Given the description of an element on the screen output the (x, y) to click on. 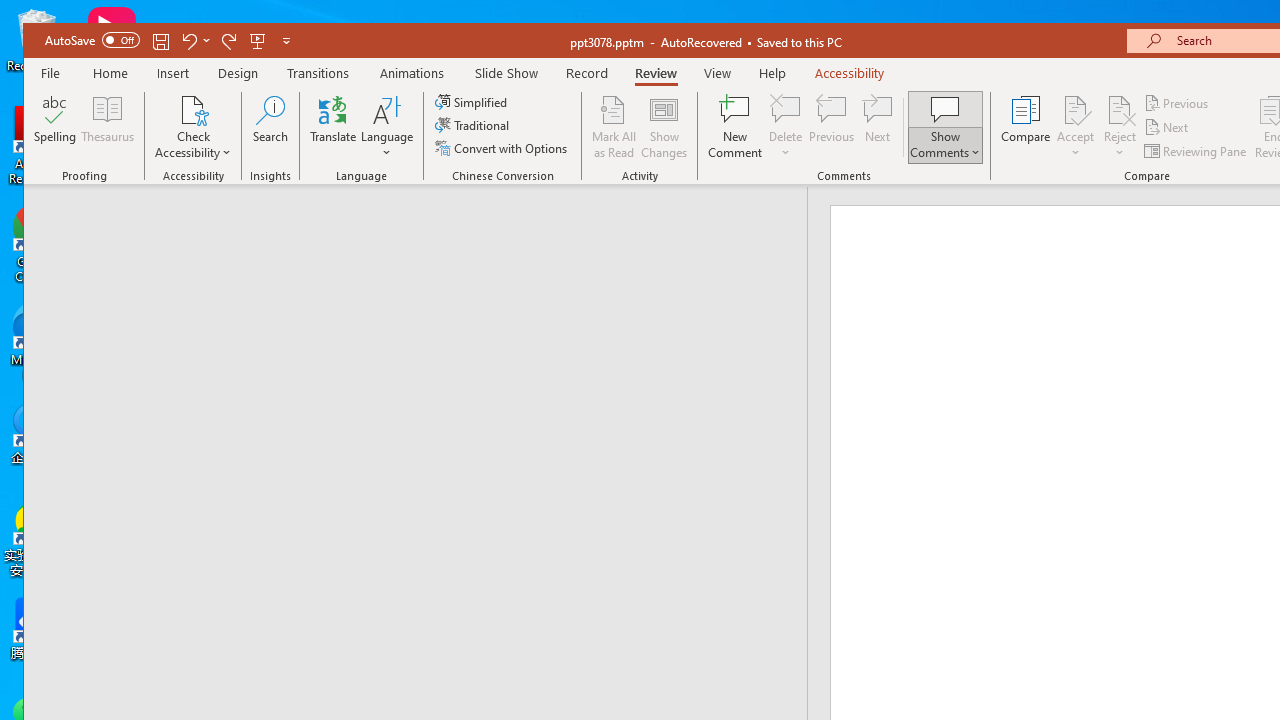
Accept (1075, 127)
Show Comments (945, 127)
Show Comments (945, 109)
New Comment (735, 127)
Compare (1025, 127)
Accept Change (1075, 109)
Simplified (473, 101)
Spelling... (55, 127)
